Given the description of an element on the screen output the (x, y) to click on. 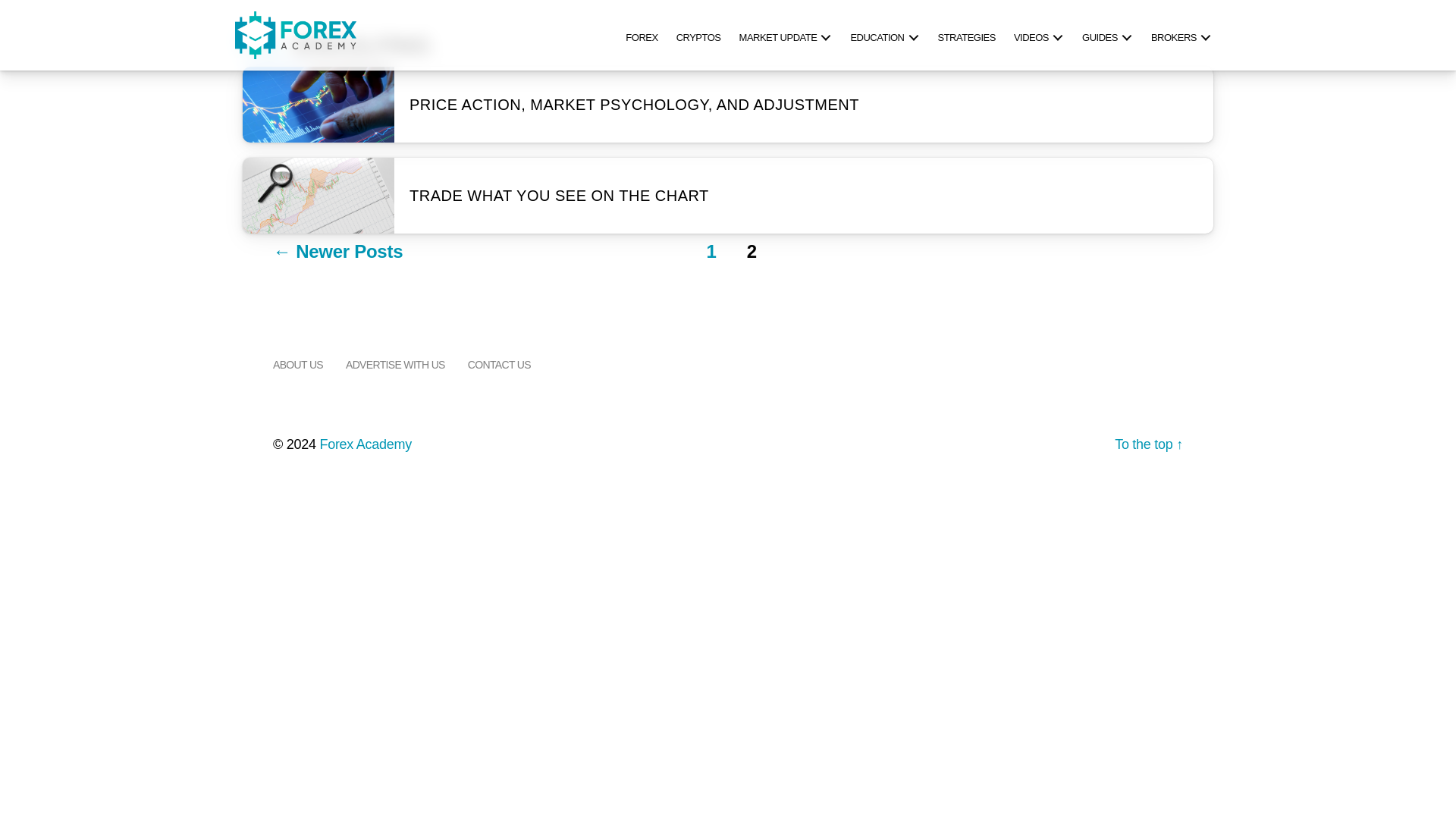
GUIDES (1107, 35)
MARKET UPDATE (785, 35)
BROKERS (1181, 35)
EDUCATION (884, 35)
VIDEOS (1038, 35)
CRYPTOS (698, 35)
STRATEGIES (966, 35)
